Given the description of an element on the screen output the (x, y) to click on. 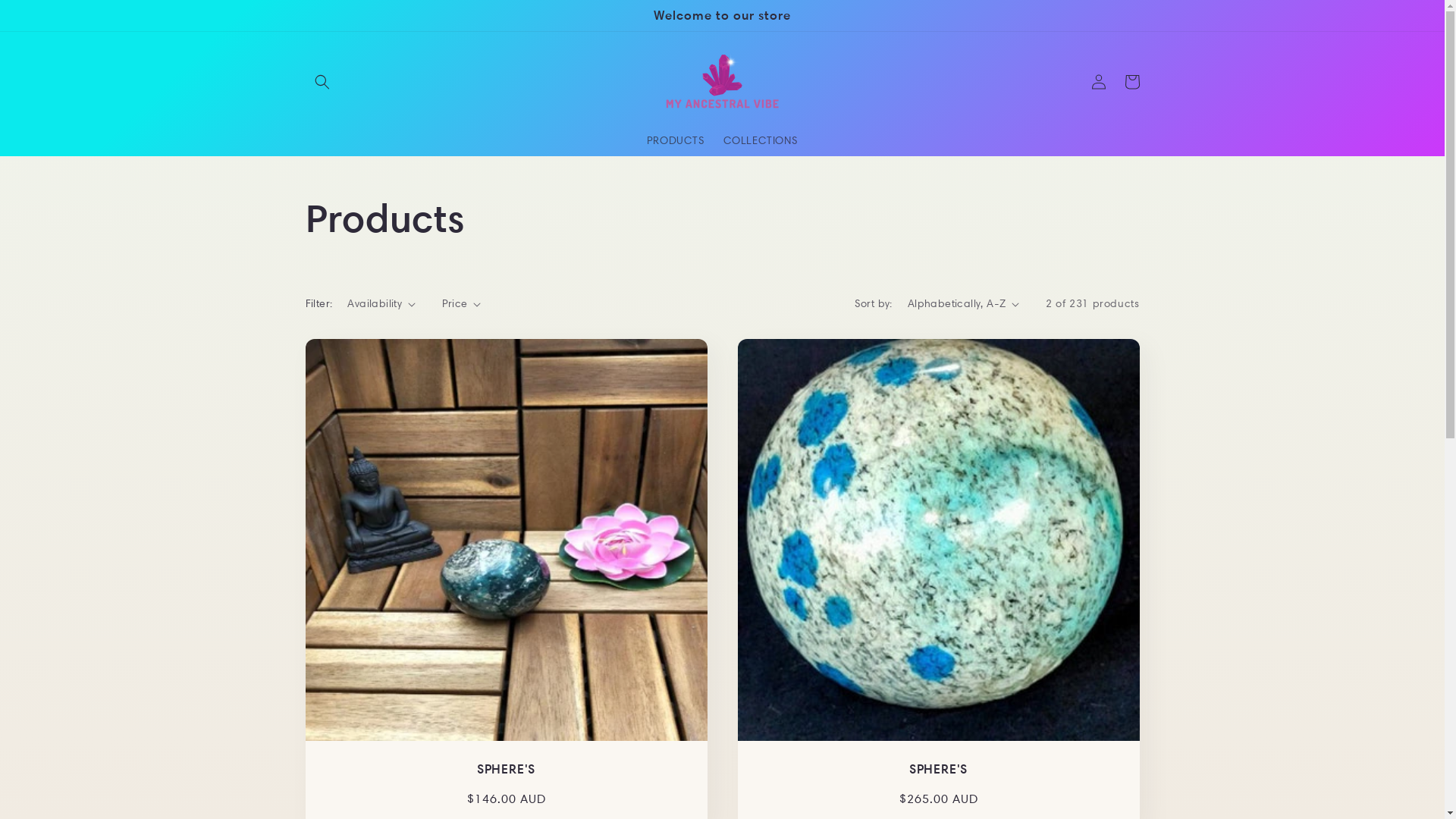
SPHERE'S Element type: text (937, 769)
PRODUCTS Element type: text (675, 140)
SPHERE'S Element type: text (505, 769)
COLLECTIONS Element type: text (760, 140)
Cart Element type: text (1131, 81)
Log in Element type: text (1097, 81)
